Given the description of an element on the screen output the (x, y) to click on. 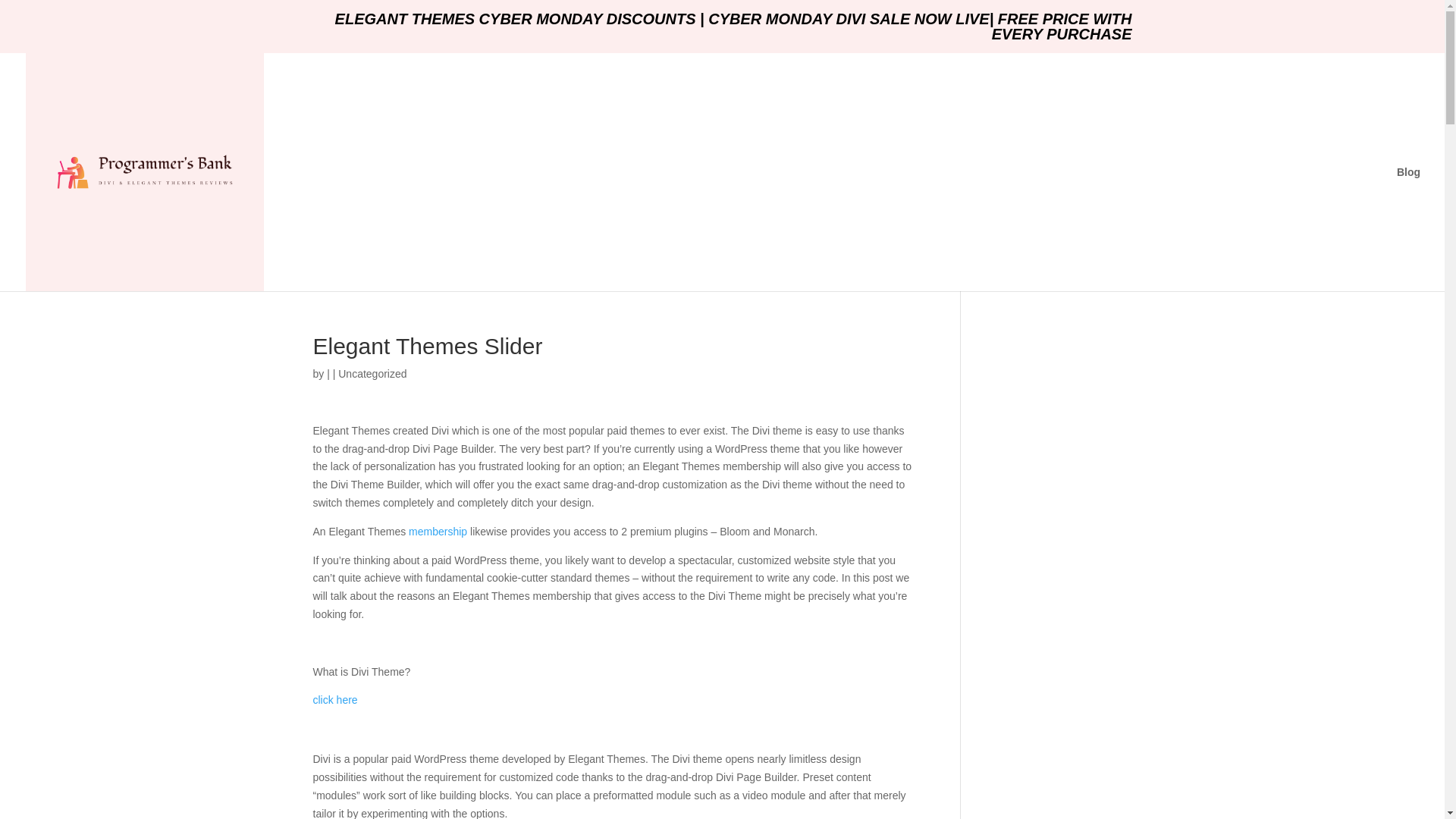
click here (334, 699)
membership (436, 531)
